Given the description of an element on the screen output the (x, y) to click on. 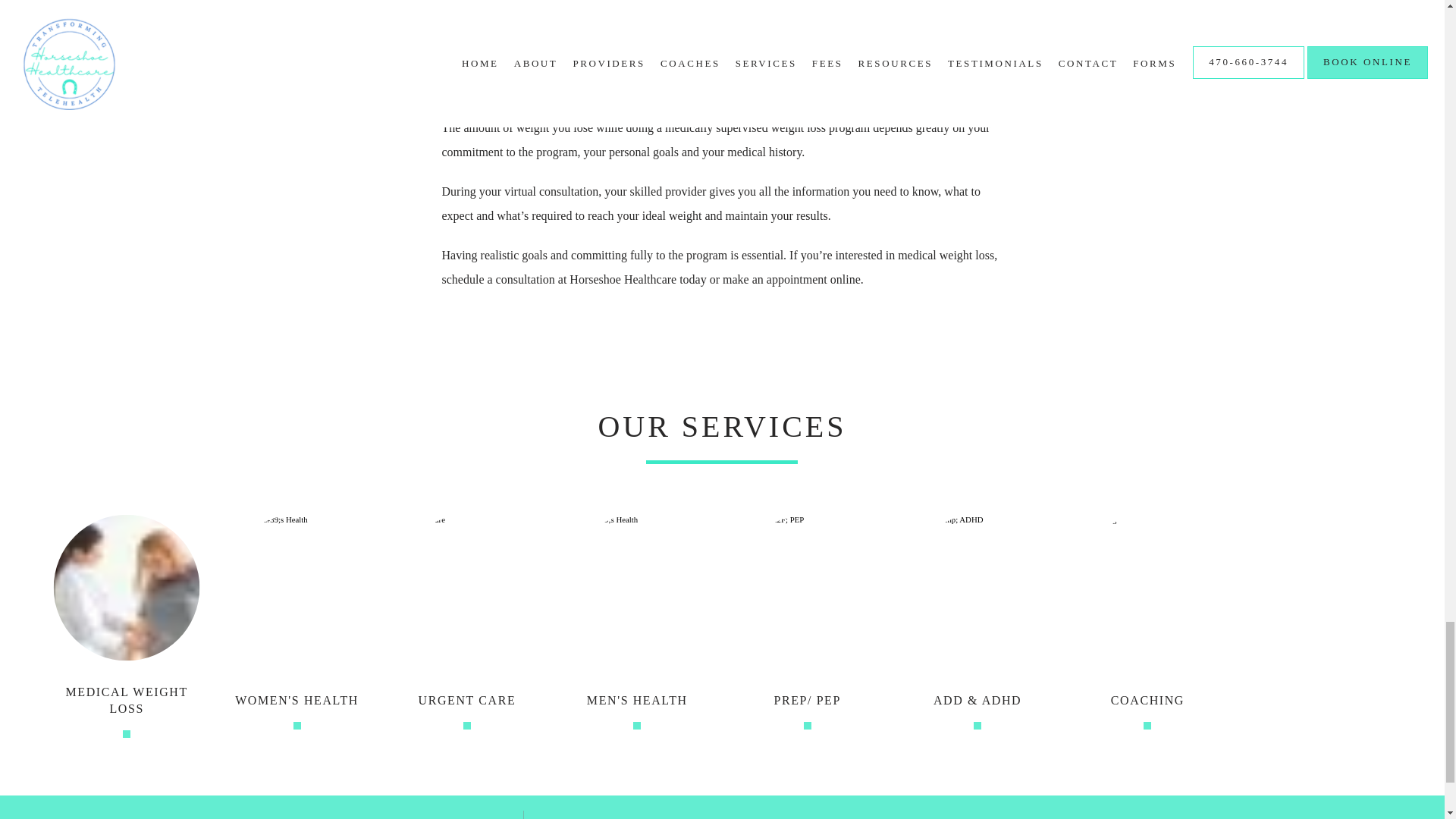
MEDICAL WEIGHT LOSS (126, 700)
URGENT CARE (467, 700)
COACHING (1147, 700)
MEN'S HEALTH (636, 700)
WOMEN'S HEALTH (296, 700)
